Given the description of an element on the screen output the (x, y) to click on. 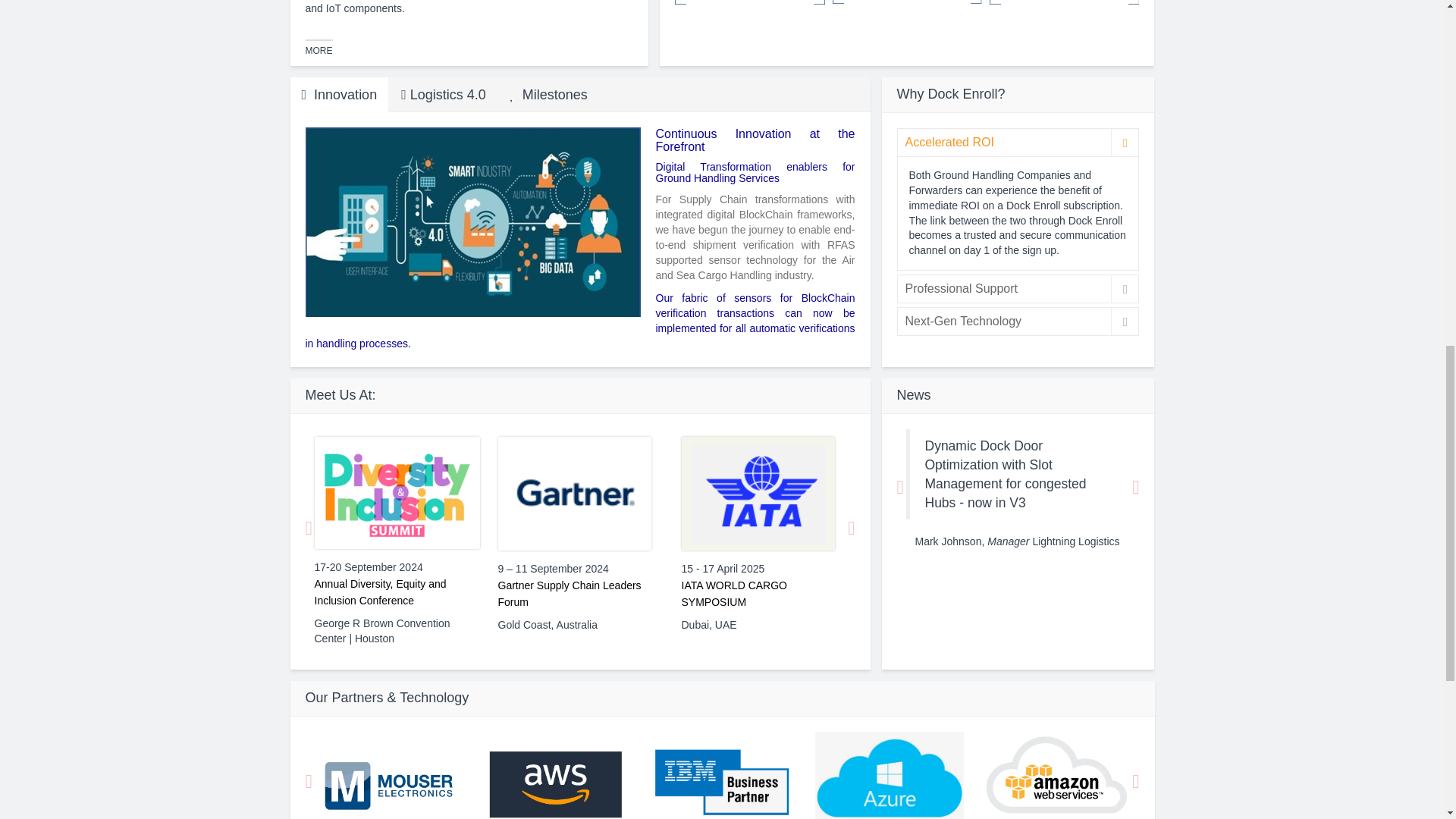
MORE (707, 2)
MORE (317, 48)
MORE (865, 2)
